Given the description of an element on the screen output the (x, y) to click on. 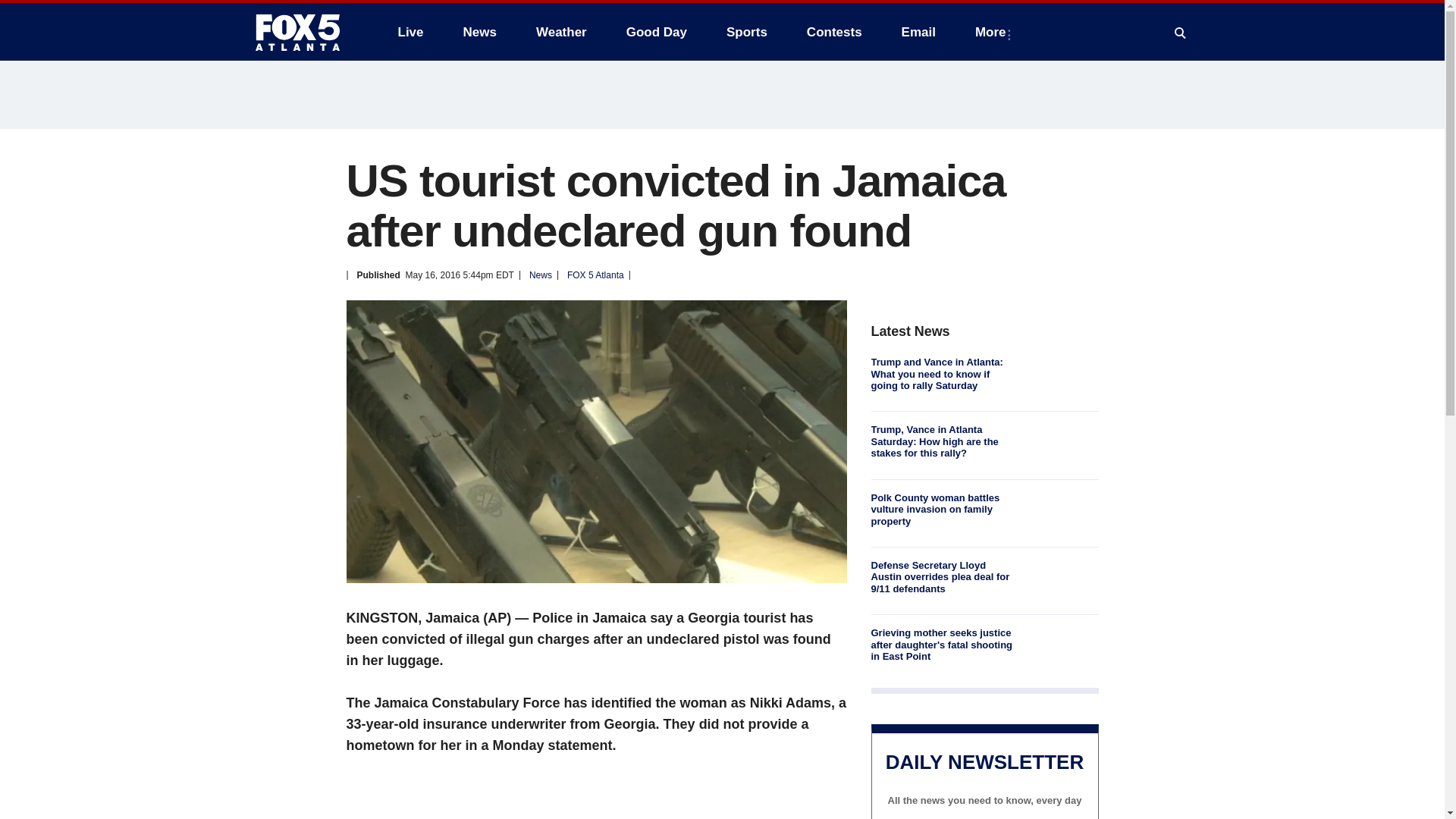
Good Day (656, 32)
Live (410, 32)
Weather (561, 32)
News (479, 32)
Sports (746, 32)
Email (918, 32)
More (993, 32)
Contests (834, 32)
